Given the description of an element on the screen output the (x, y) to click on. 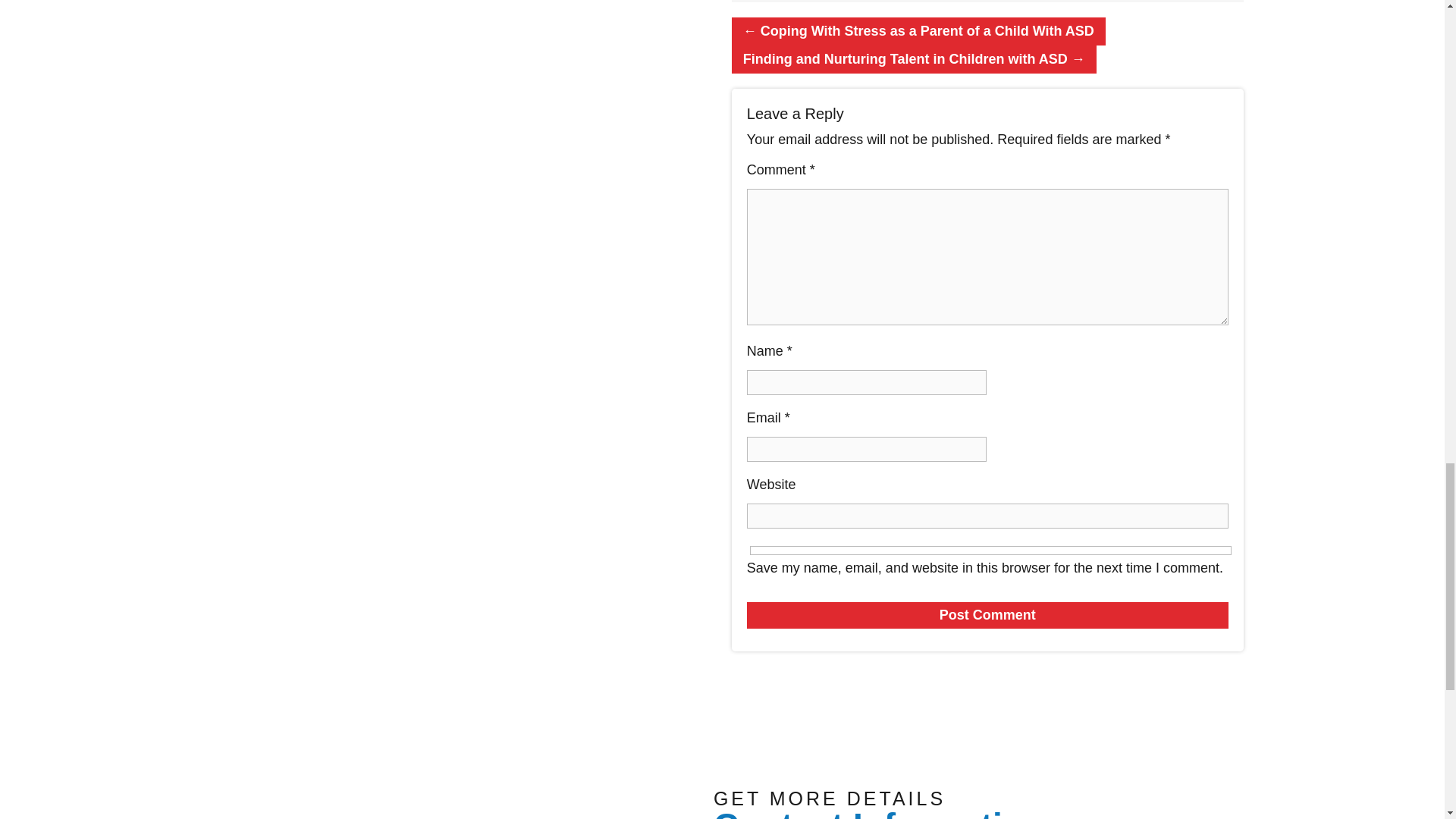
Post Comment (987, 614)
Post Comment (987, 614)
yes (990, 550)
